Given the description of an element on the screen output the (x, y) to click on. 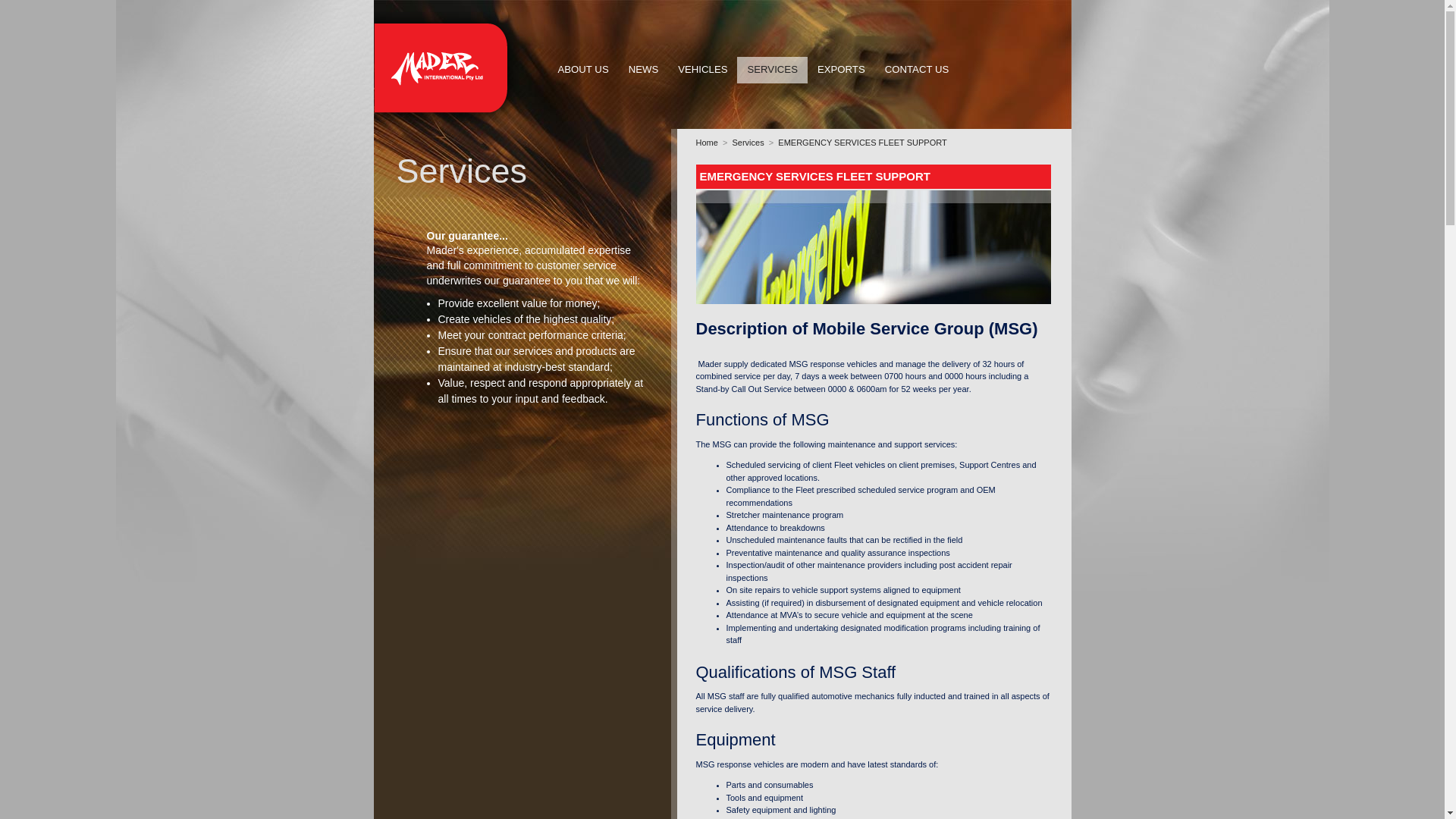
CONTACT US Element type: text (917, 69)
Home Element type: text (707, 142)
EXPORTS Element type: text (841, 69)
Services Element type: text (748, 142)
ABOUT US Element type: text (582, 69)
NEWS Element type: text (643, 69)
VEHICLES Element type: text (702, 69)
SERVICES Element type: text (771, 69)
EMERGENCY SERVICES FLEET SUPPORT Element type: text (862, 142)
